Given the description of an element on the screen output the (x, y) to click on. 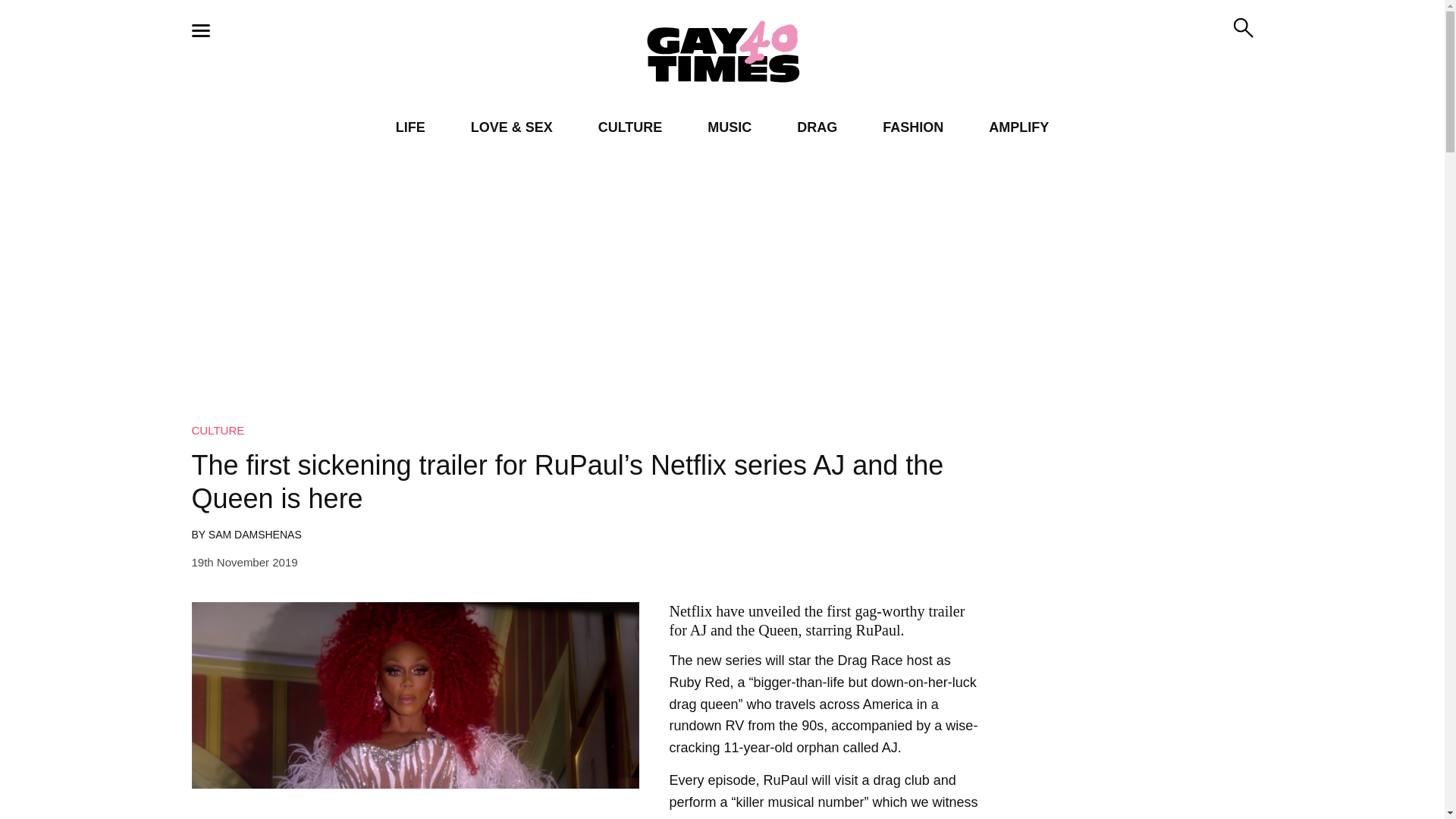
LIFE (410, 127)
FASHION (912, 127)
CULTURE (217, 430)
DRAG (816, 127)
MUSIC (729, 127)
SAM DAMSHENAS (254, 534)
3rd party ad content (1130, 647)
AMPLIFY (1018, 127)
3rd party ad content (721, 785)
